Given the description of an element on the screen output the (x, y) to click on. 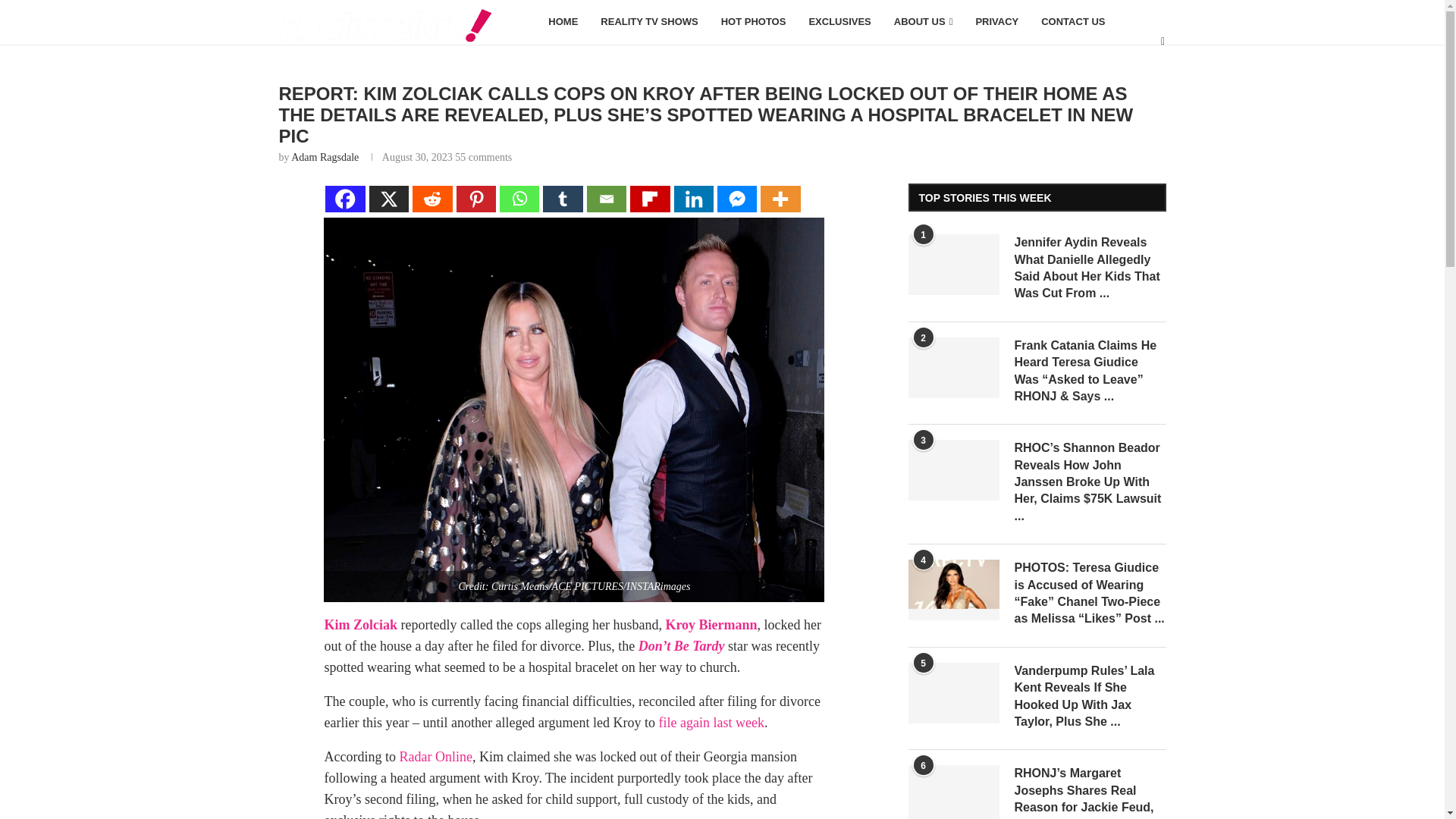
EXCLUSIVES (839, 22)
HOME (563, 22)
Facebook (344, 198)
Pinterest (476, 198)
Kim Zolciak (360, 624)
Adam Ragsdale (324, 156)
ABOUT US (922, 22)
Linkedin (694, 198)
Tumblr (563, 198)
HOT PHOTOS (753, 22)
